Given the description of an element on the screen output the (x, y) to click on. 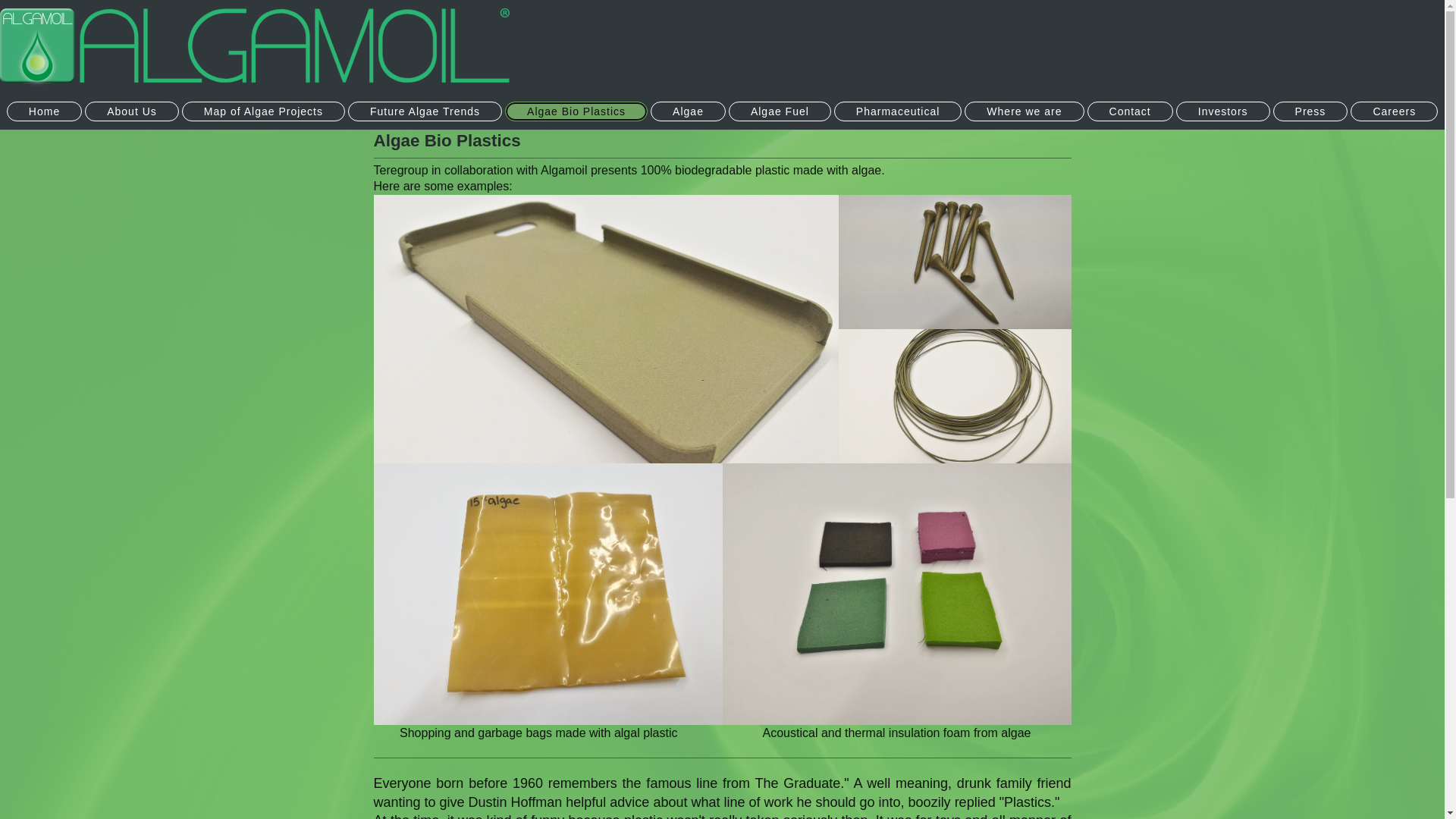
About Us (131, 111)
Map of Algae Projects (263, 111)
Algae Bio Plastics (576, 111)
Careers (1394, 111)
Press (1310, 111)
Algae (687, 111)
Algae Fuel (780, 111)
Home (44, 111)
Where we are (1023, 111)
Future Algae Trends (424, 111)
Pharmaceutical (898, 111)
Contact (1130, 111)
Investors (1222, 111)
